Given the description of an element on the screen output the (x, y) to click on. 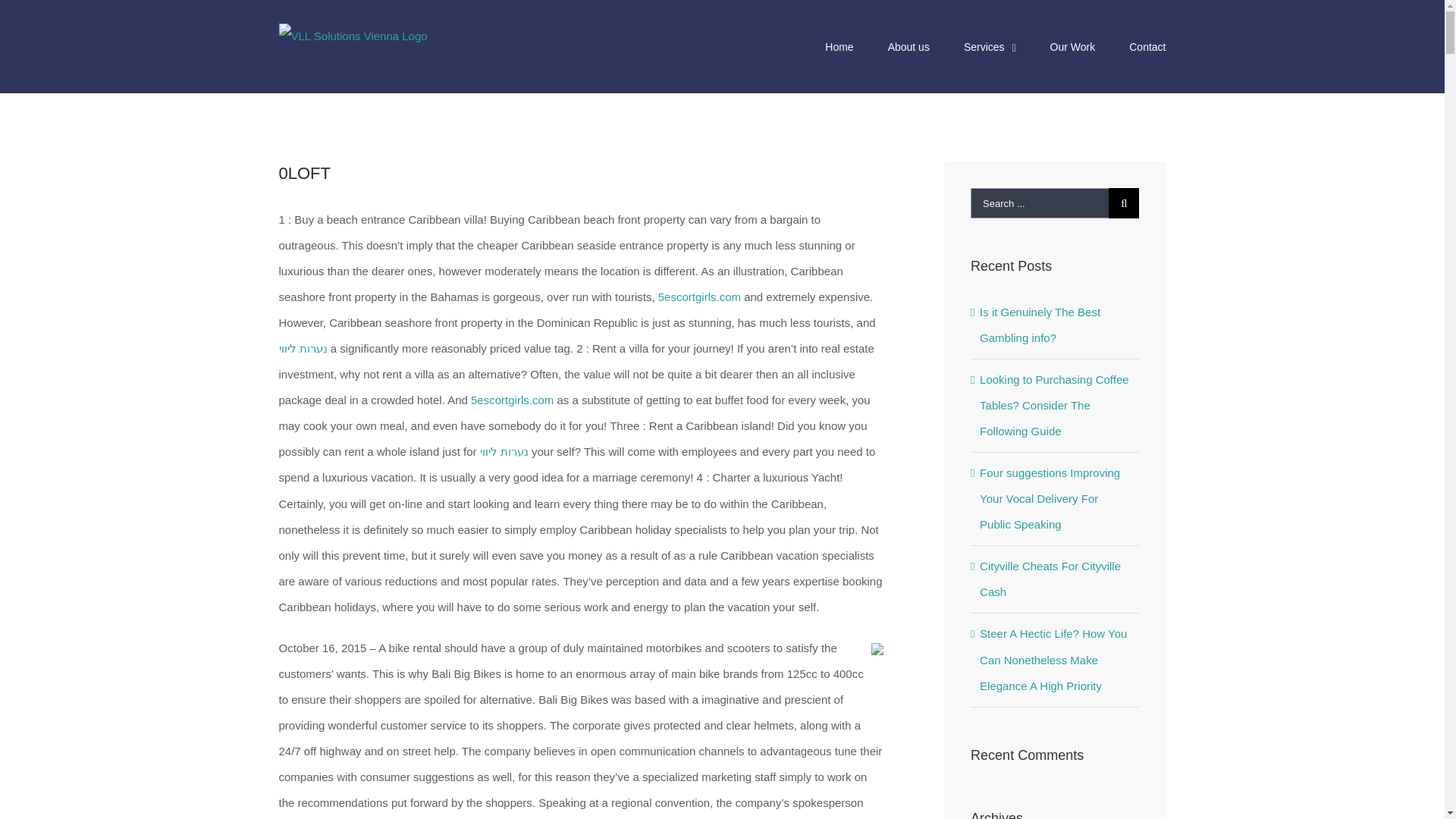
Home (839, 46)
Contact (1147, 46)
5escortgirls.com (511, 399)
Services (989, 46)
5escortgirls.com (699, 296)
About us (909, 46)
Our Work (1072, 46)
